Given the description of an element on the screen output the (x, y) to click on. 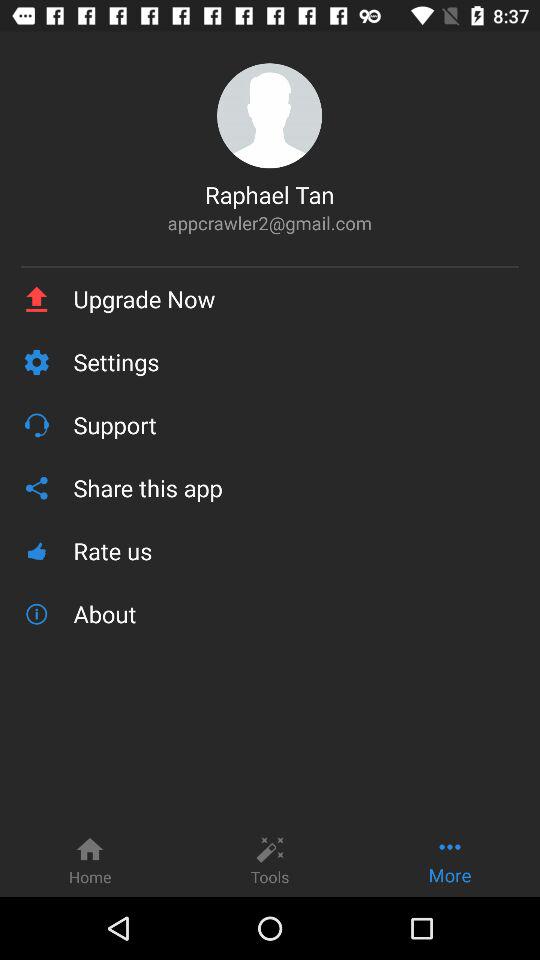
scroll until the appcrawler2@gmail.com item (269, 222)
